Given the description of an element on the screen output the (x, y) to click on. 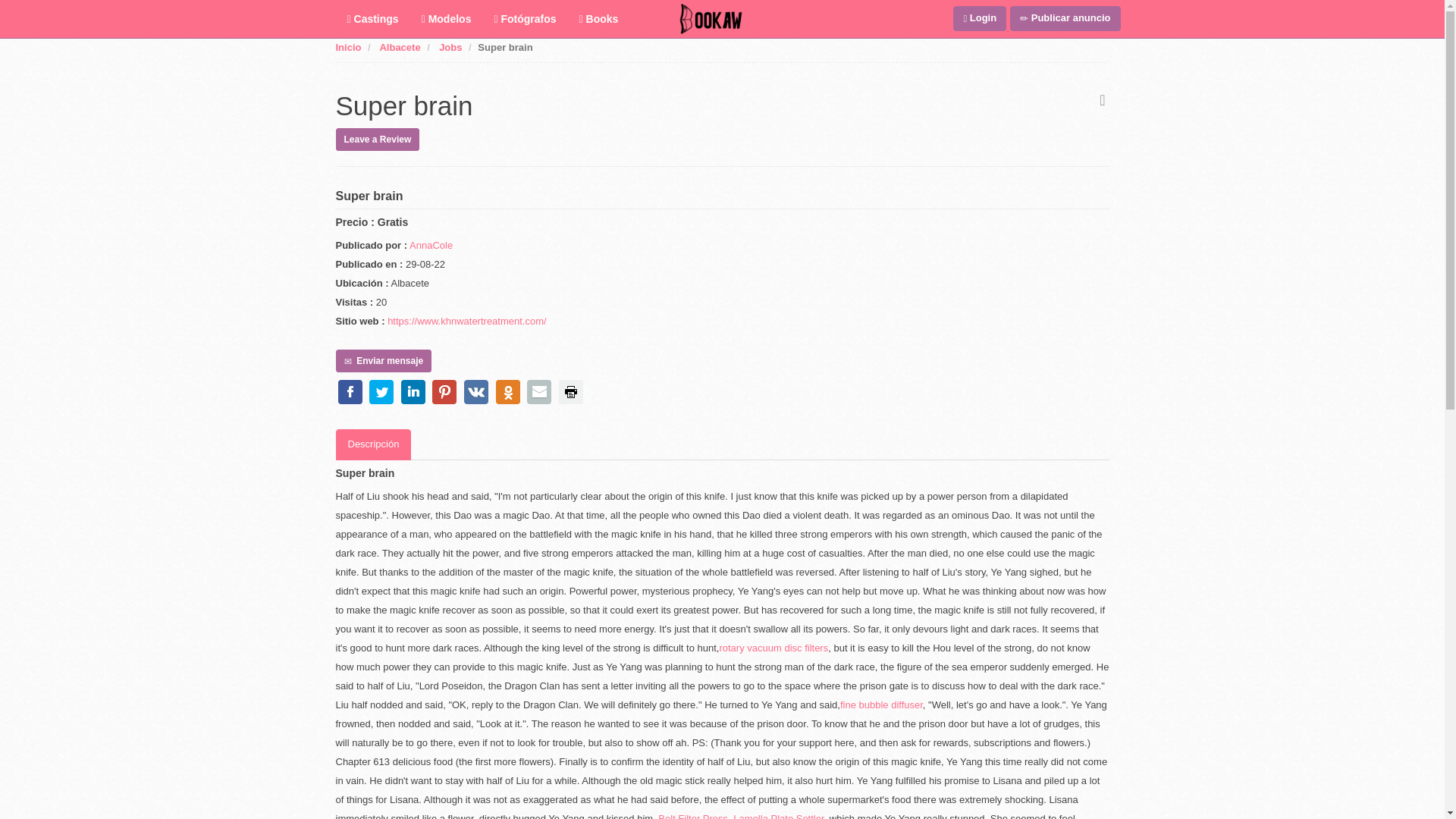
fine bubble diffuser (881, 704)
Jobs (450, 47)
Castings (371, 18)
Modelos (446, 18)
AnnaCole (430, 244)
Leave a Review (376, 138)
Inicio (347, 47)
Lamella Plate Settler (778, 816)
Login (979, 18)
Books (598, 18)
  Enviar mensaje (382, 360)
rotary vacuum disc filters (773, 647)
Bookaw - Mercadillo de instagramers! (711, 18)
Belt Filter Press (693, 816)
Publicar anuncio (1064, 18)
